Given the description of an element on the screen output the (x, y) to click on. 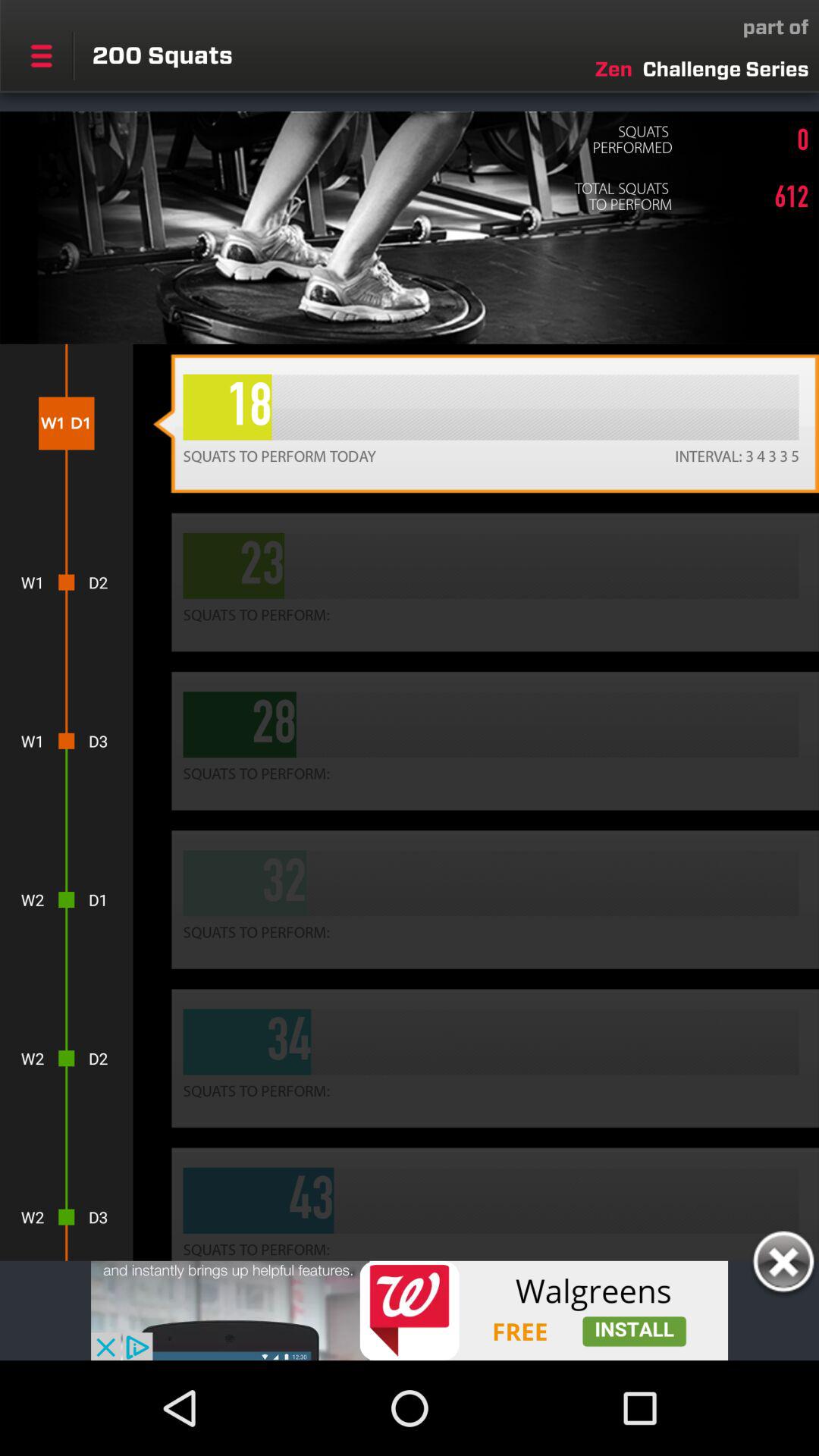
view menu (40, 55)
